Given the description of an element on the screen output the (x, y) to click on. 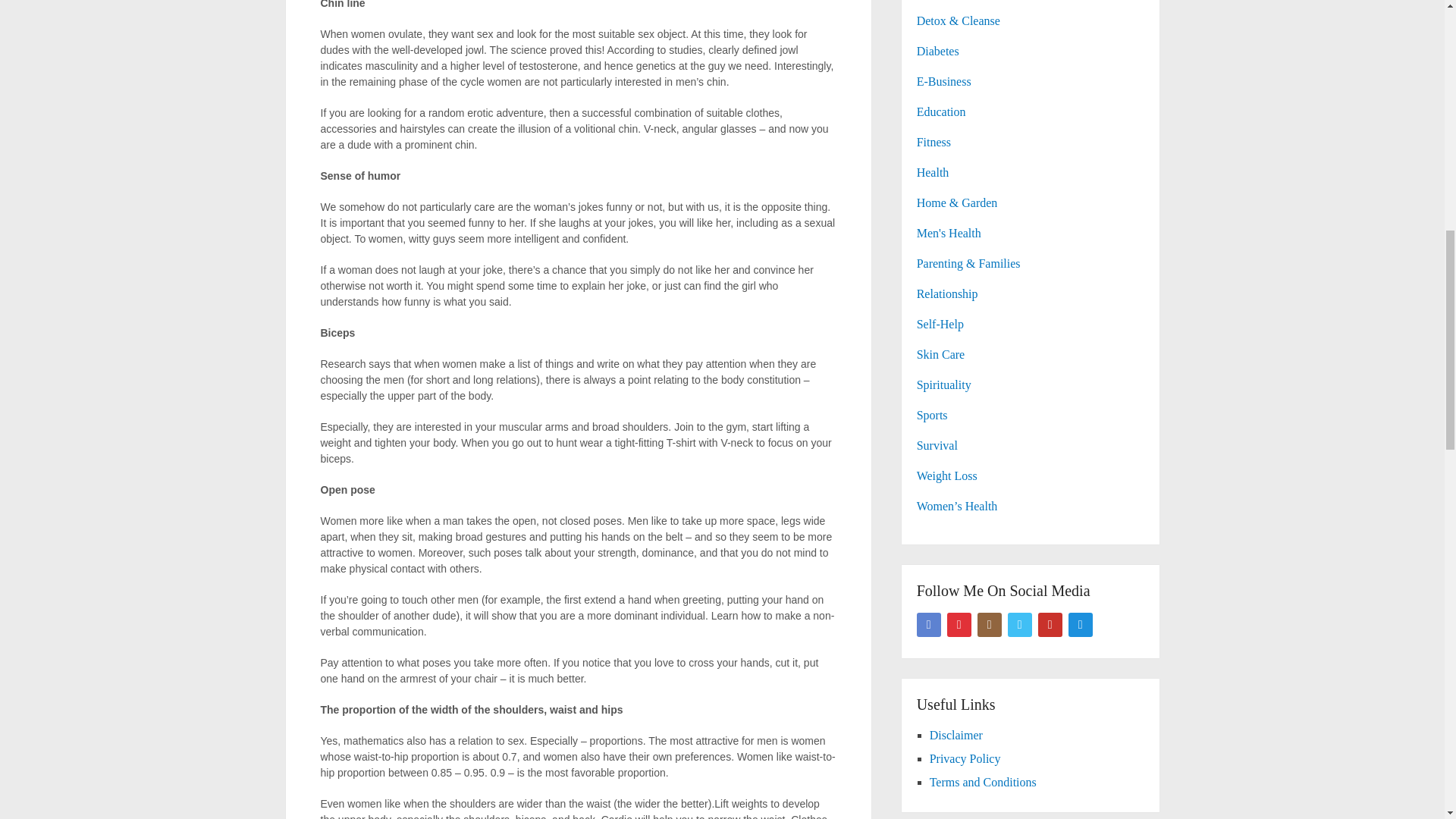
Diabetes (938, 51)
Health (933, 172)
Fitness (933, 141)
Education (941, 111)
Men's Health (949, 232)
E-Business (944, 81)
